Given the description of an element on the screen output the (x, y) to click on. 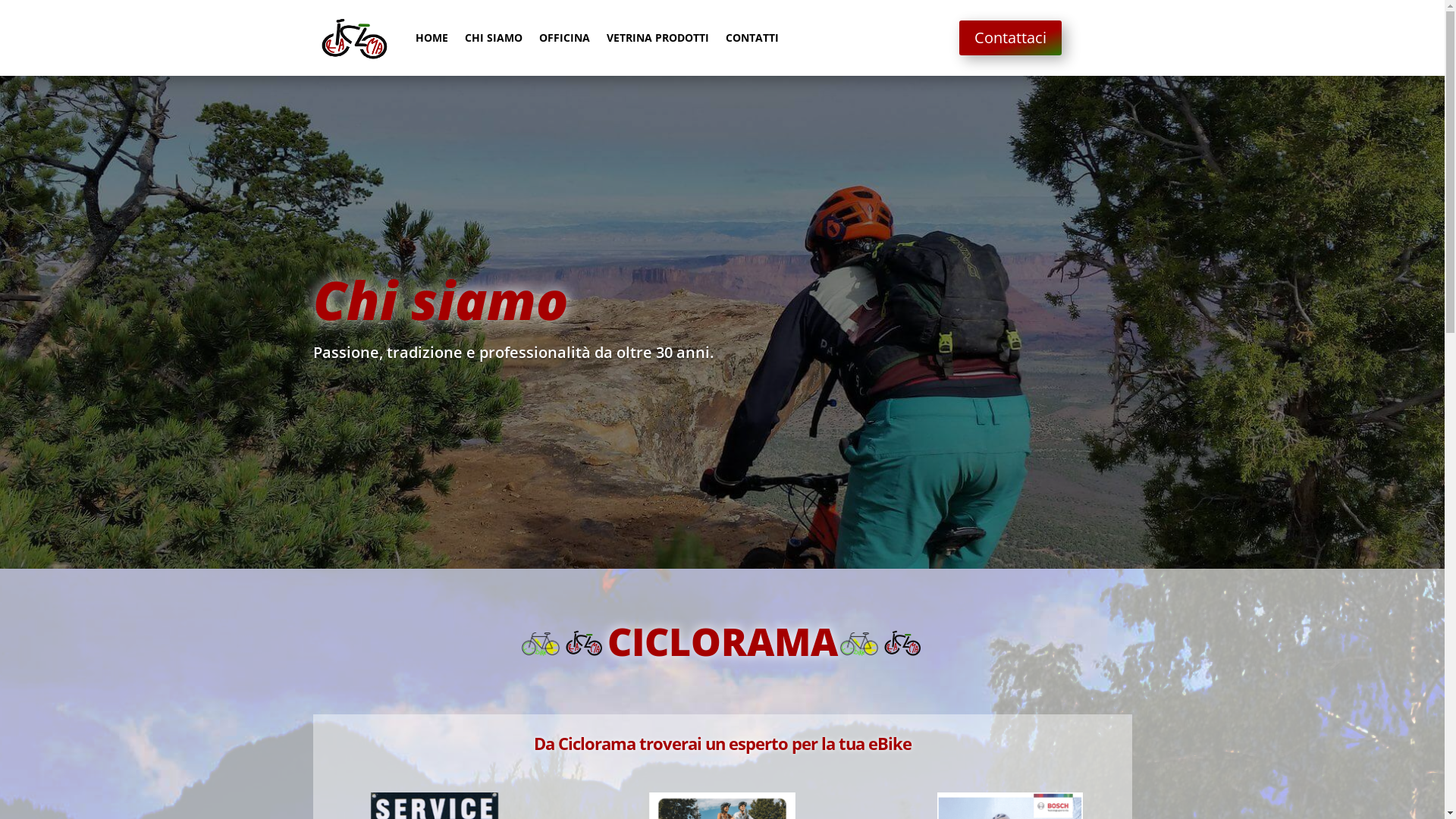
OFFICINA Element type: text (563, 37)
VETRINA PRODOTTI Element type: text (657, 37)
CONTATTI Element type: text (751, 37)
Contattaci Element type: text (1010, 37)
HOME Element type: text (431, 37)
CHI SIAMO Element type: text (492, 37)
